Given the description of an element on the screen output the (x, y) to click on. 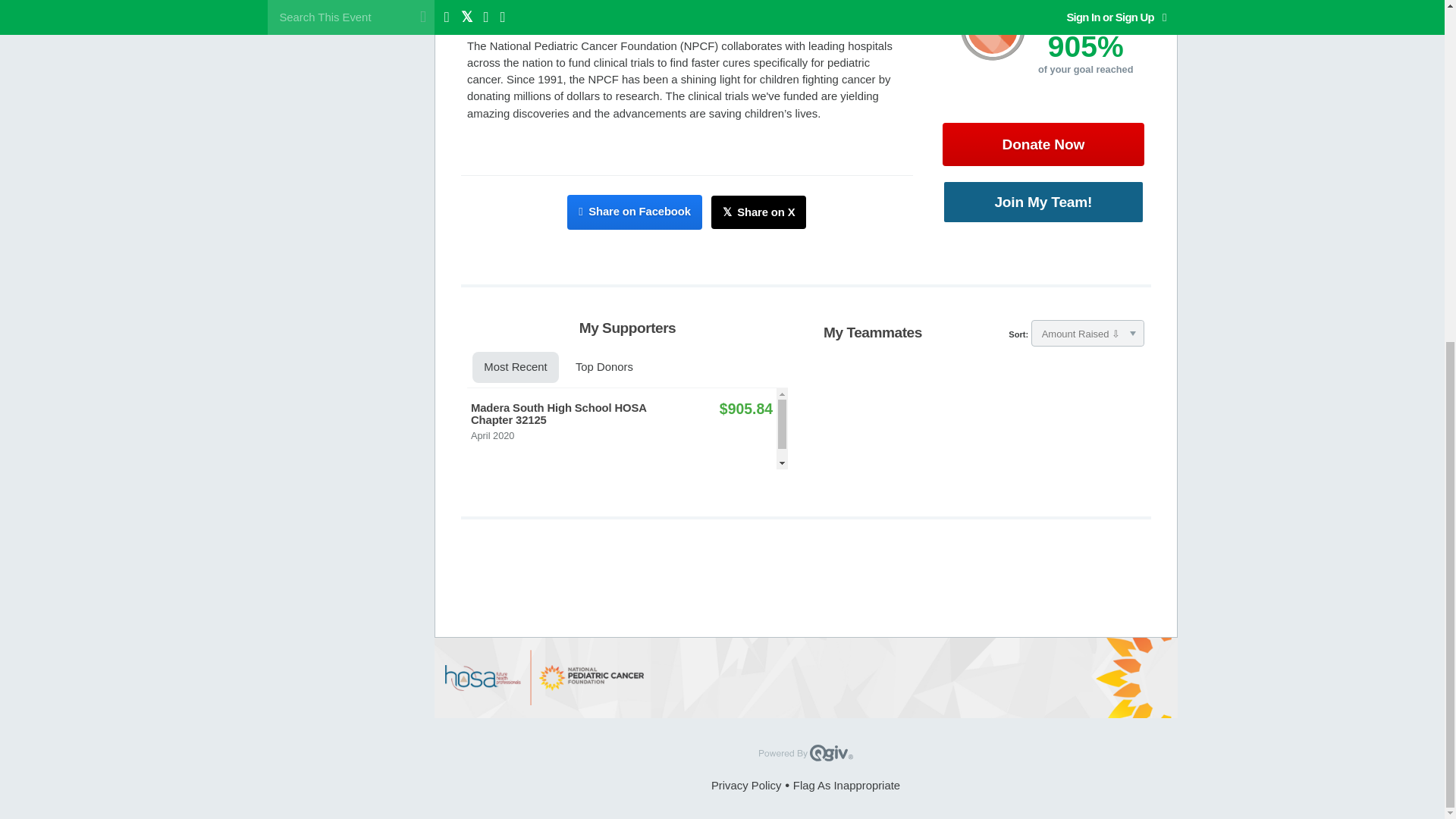
Donate Now (1043, 144)
Most Recent (514, 368)
Top Donors (604, 368)
Join My Team! (1043, 201)
Share on Facebook (634, 211)
Share on X (758, 212)
